Given the description of an element on the screen output the (x, y) to click on. 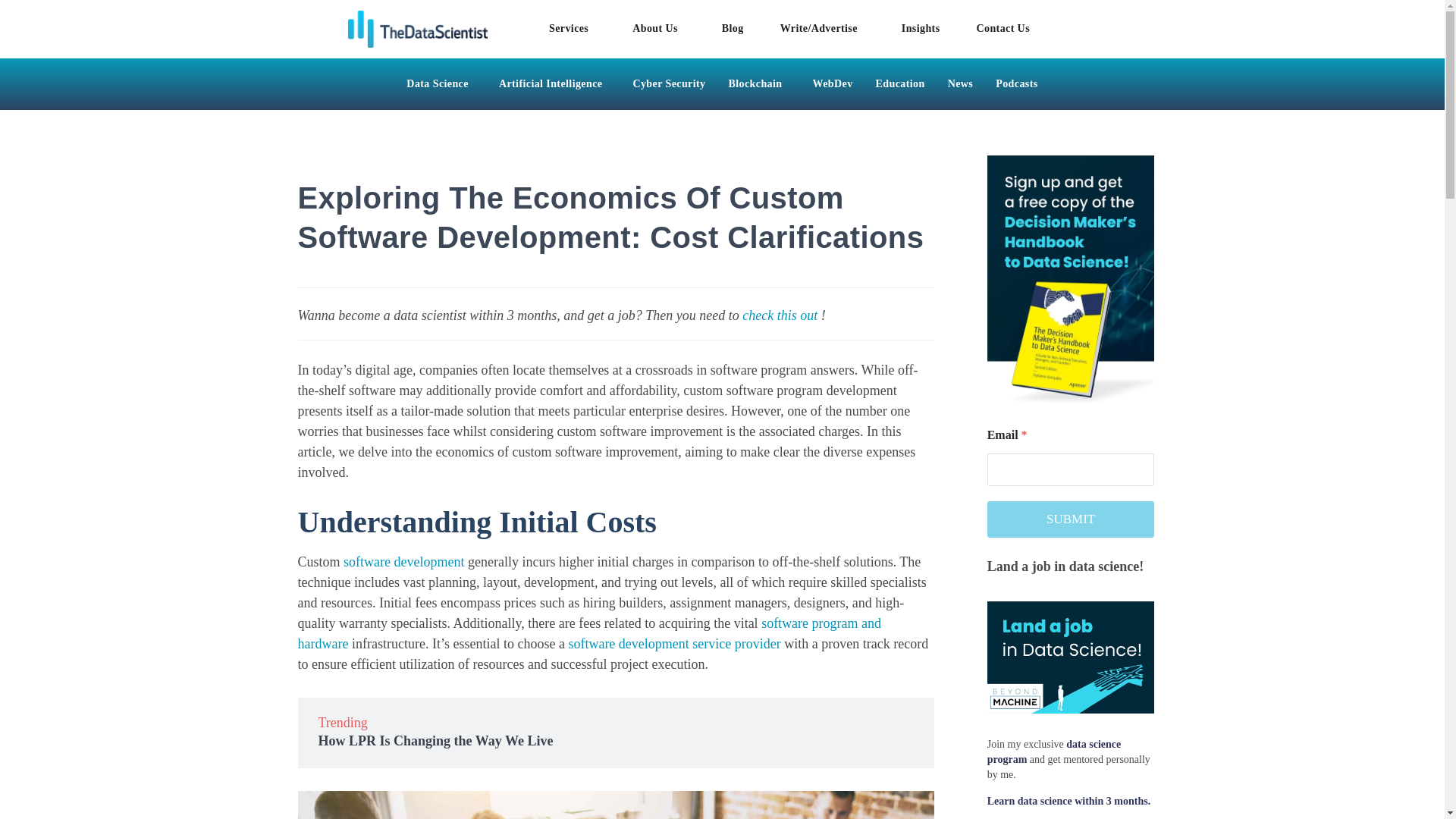
How LPR Is Changing the Way We Live (435, 740)
software development service provider (673, 643)
About Us (658, 28)
Services (572, 28)
Contact Us (1003, 28)
Cyber Security (668, 84)
Blockchain (759, 84)
Skip to content (11, 31)
Podcasts (1016, 84)
Blog (732, 28)
